Given the description of an element on the screen output the (x, y) to click on. 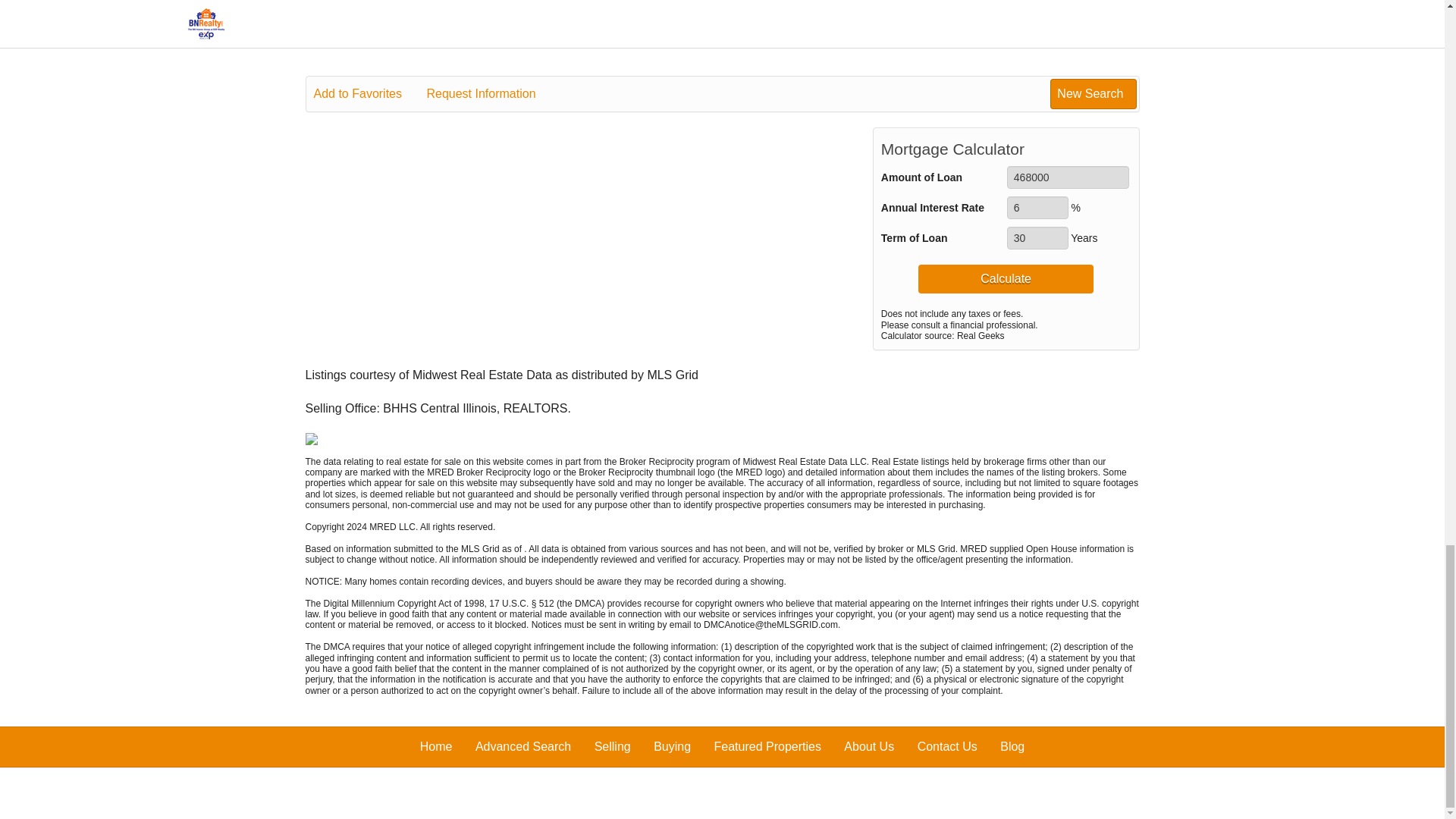
468000 (1068, 177)
6 (1037, 207)
30 (1037, 237)
